Given the description of an element on the screen output the (x, y) to click on. 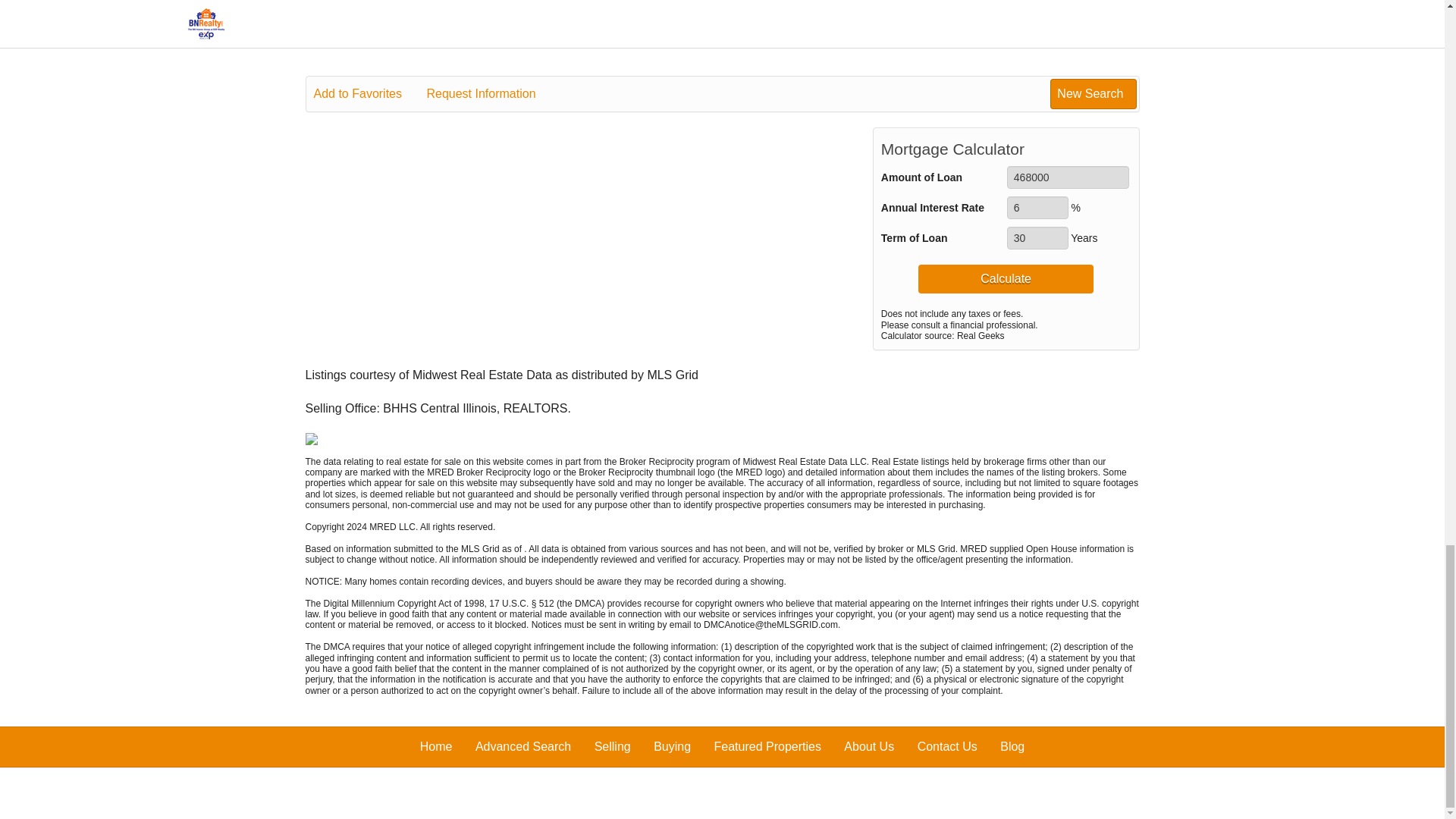
468000 (1068, 177)
6 (1037, 207)
30 (1037, 237)
